Given the description of an element on the screen output the (x, y) to click on. 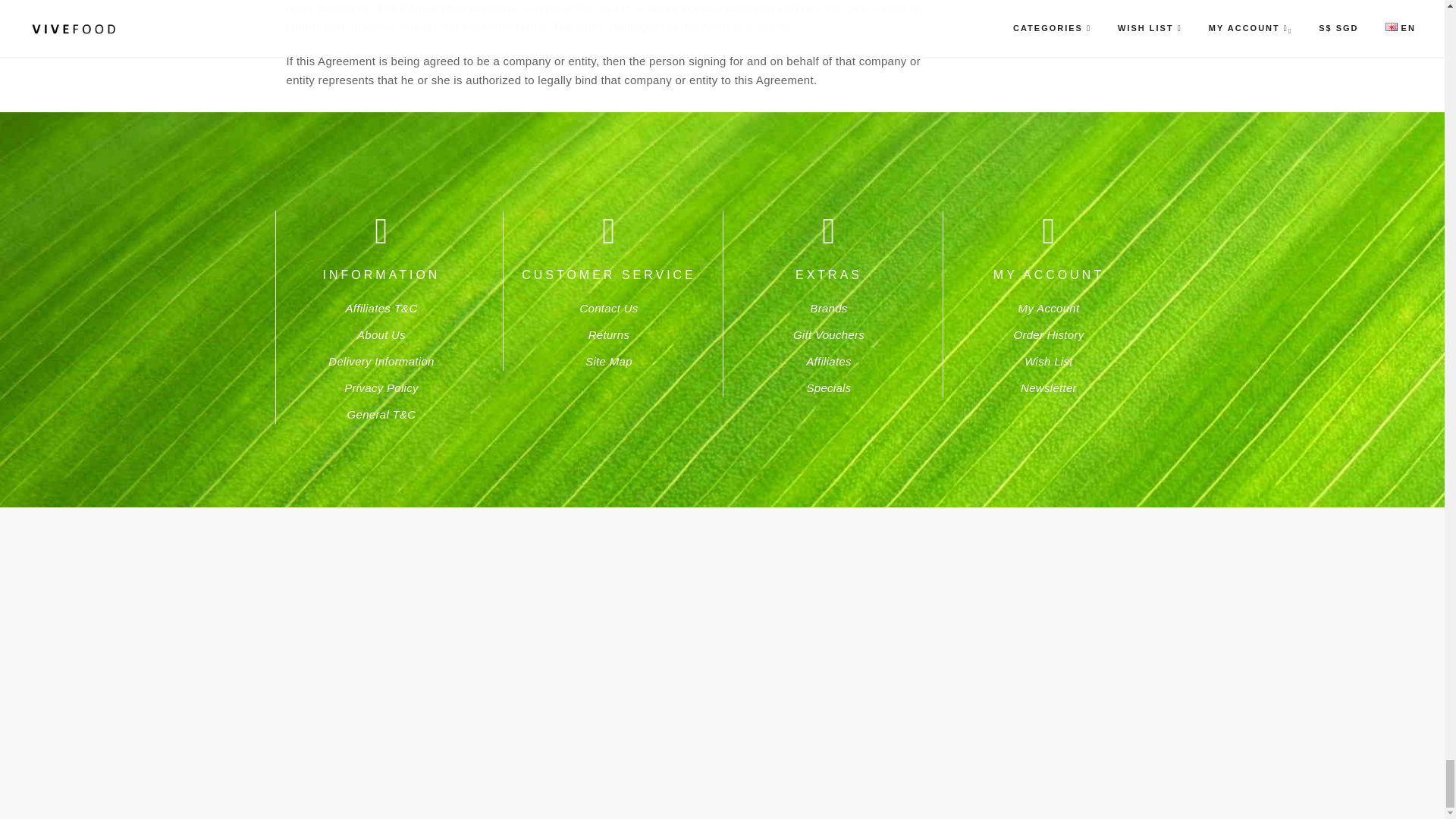
Site Map (608, 360)
Privacy Policy (381, 387)
Brands (828, 308)
Delivery Information (381, 360)
About Us (381, 334)
Contact Us (608, 308)
Gift Vouchers (828, 334)
Returns (609, 334)
